Given the description of an element on the screen output the (x, y) to click on. 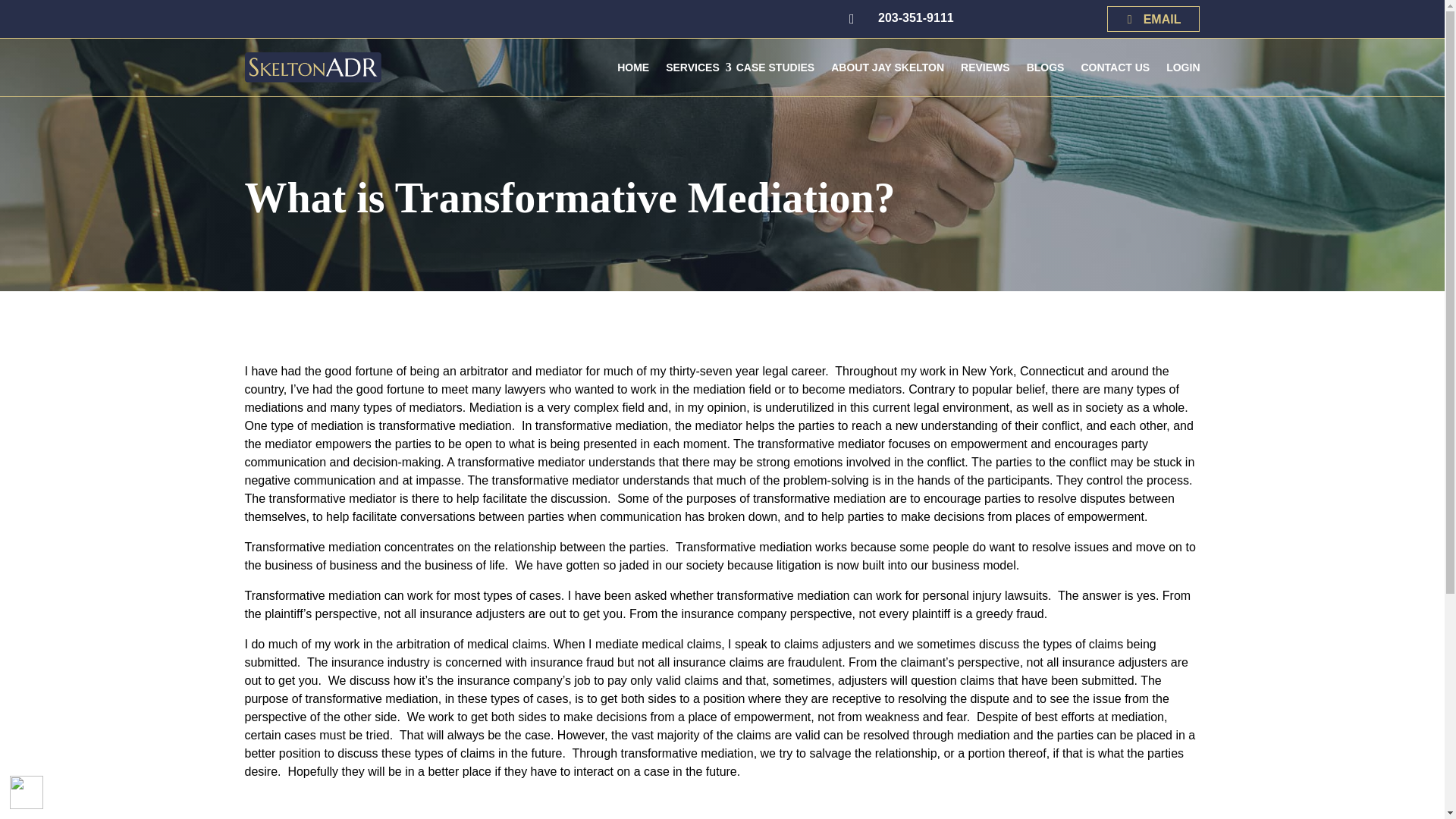
REVIEWS (984, 67)
CONTACT US (1114, 67)
CASE STUDIES (775, 67)
EMAIL (1152, 18)
SERVICES (693, 67)
ABOUT JAY SKELTON (887, 67)
BLOGS (1045, 67)
203-351-9111 (915, 17)
